Given the description of an element on the screen output the (x, y) to click on. 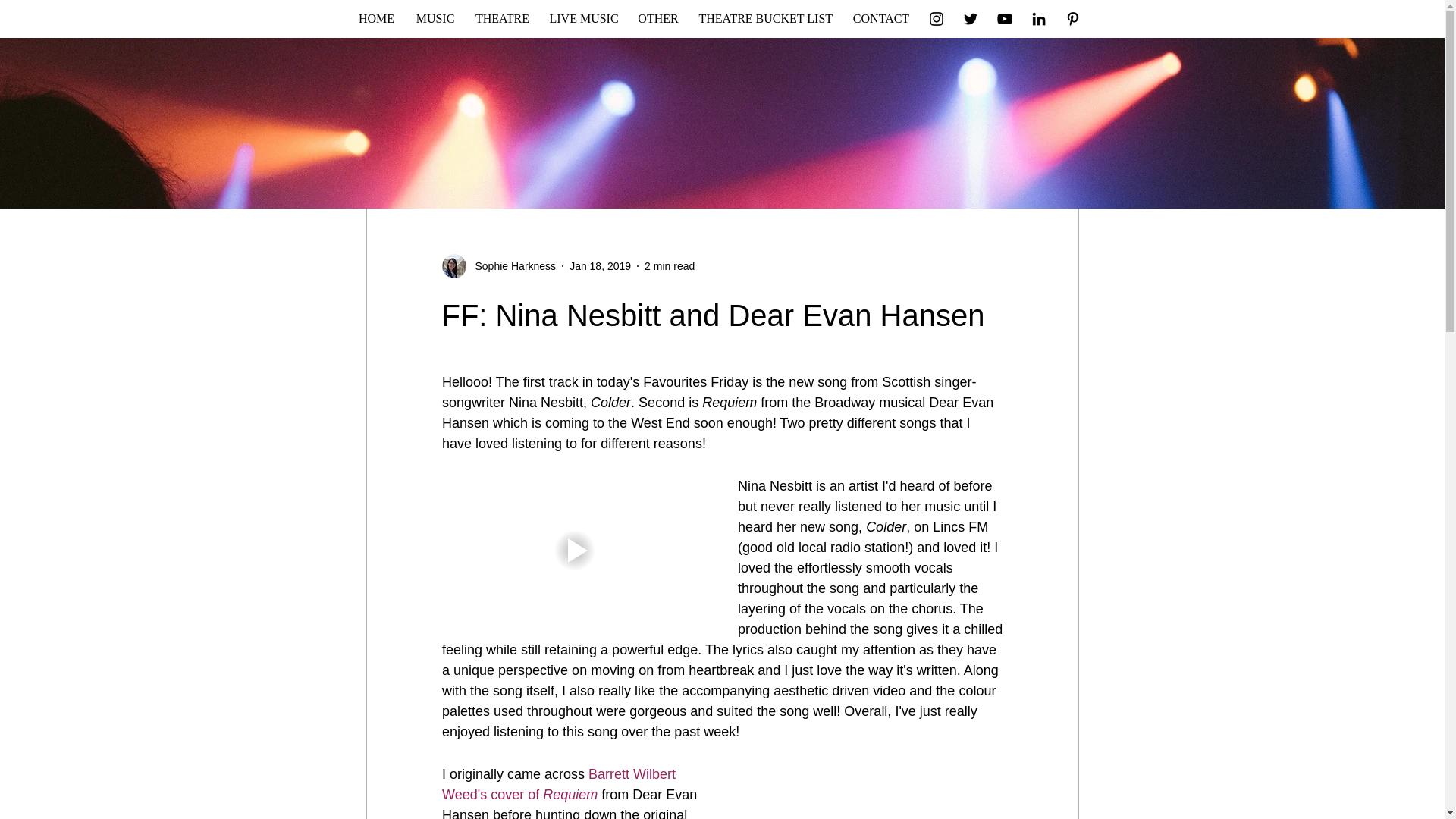
Requiem (569, 794)
Sophie Harkness (510, 265)
THEATRE (502, 18)
2 min read (669, 265)
Jan 18, 2019 (599, 265)
THEATRE BUCKET LIST (764, 18)
OTHER (657, 18)
 Barrett Wilbert Weed's cover of  (559, 784)
MUSIC (434, 18)
CONTACT (881, 18)
HOME (375, 18)
LIVE MUSIC (583, 18)
